Given the description of an element on the screen output the (x, y) to click on. 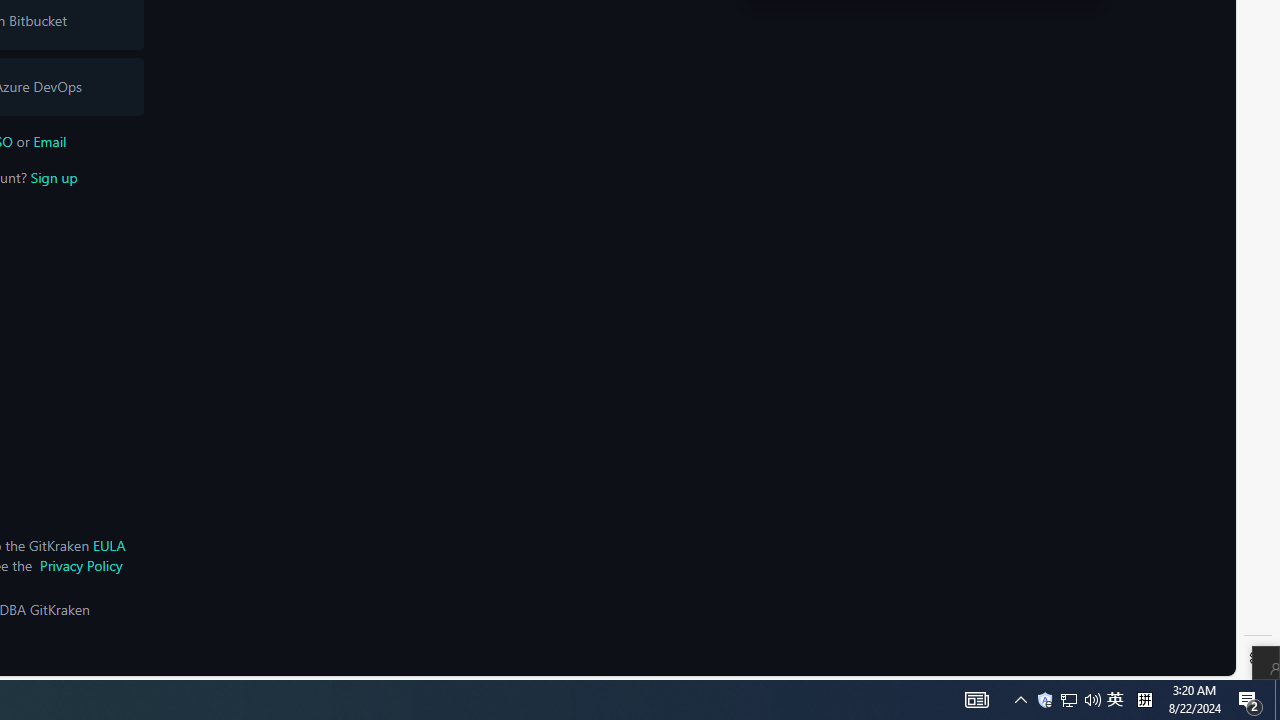
Notification Chevron (1115, 699)
